Given the description of an element on the screen output the (x, y) to click on. 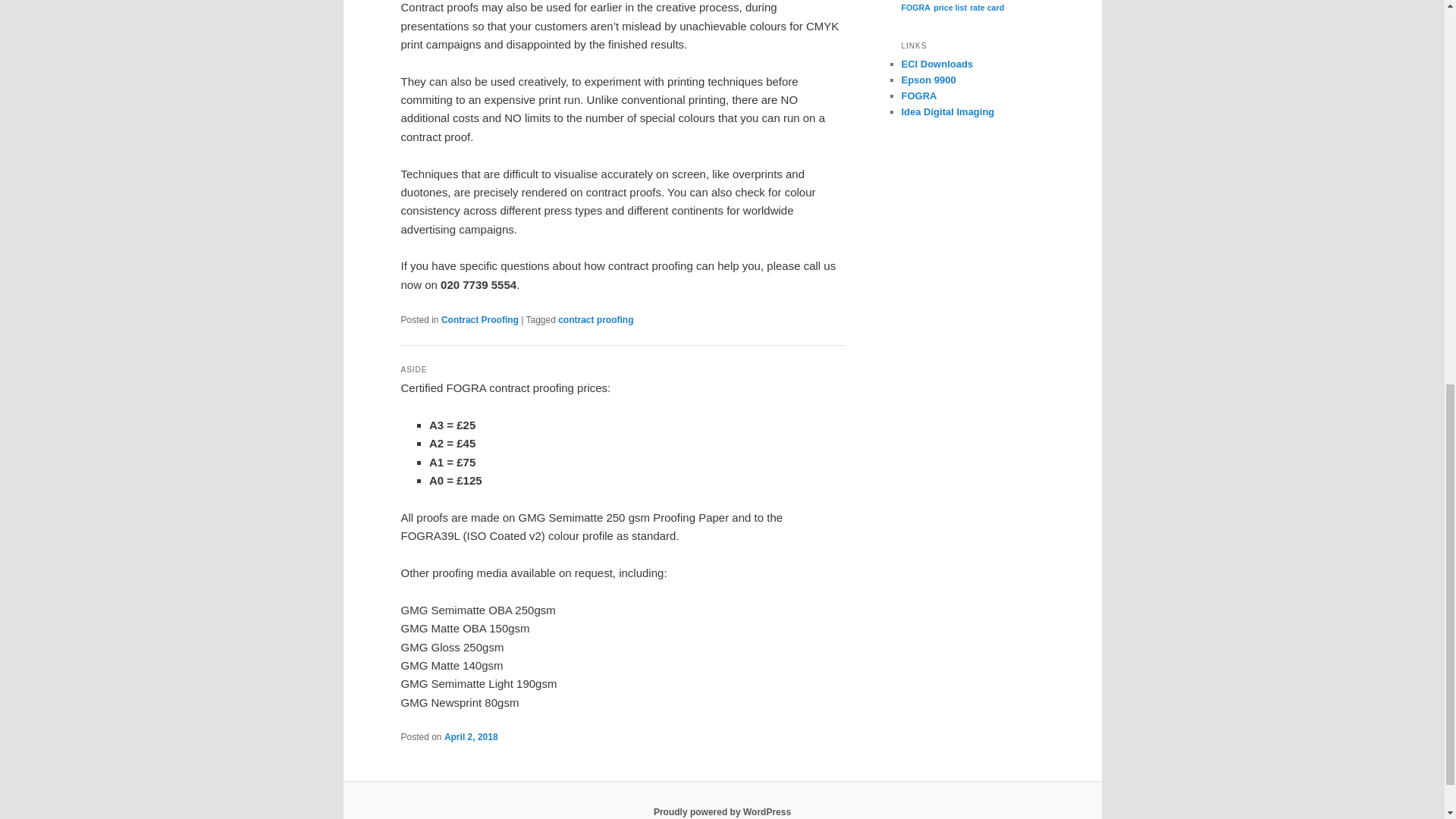
contract proofing (595, 319)
Proudly powered by WordPress (721, 811)
rate card (986, 7)
price list (949, 7)
April 2, 2018 (470, 737)
ECI Downloads (936, 63)
We use Epson wide format printers (928, 79)
23:04 (470, 737)
Idea Digital Imaging Ltd main web site (947, 111)
FOGRA (915, 7)
